Given the description of an element on the screen output the (x, y) to click on. 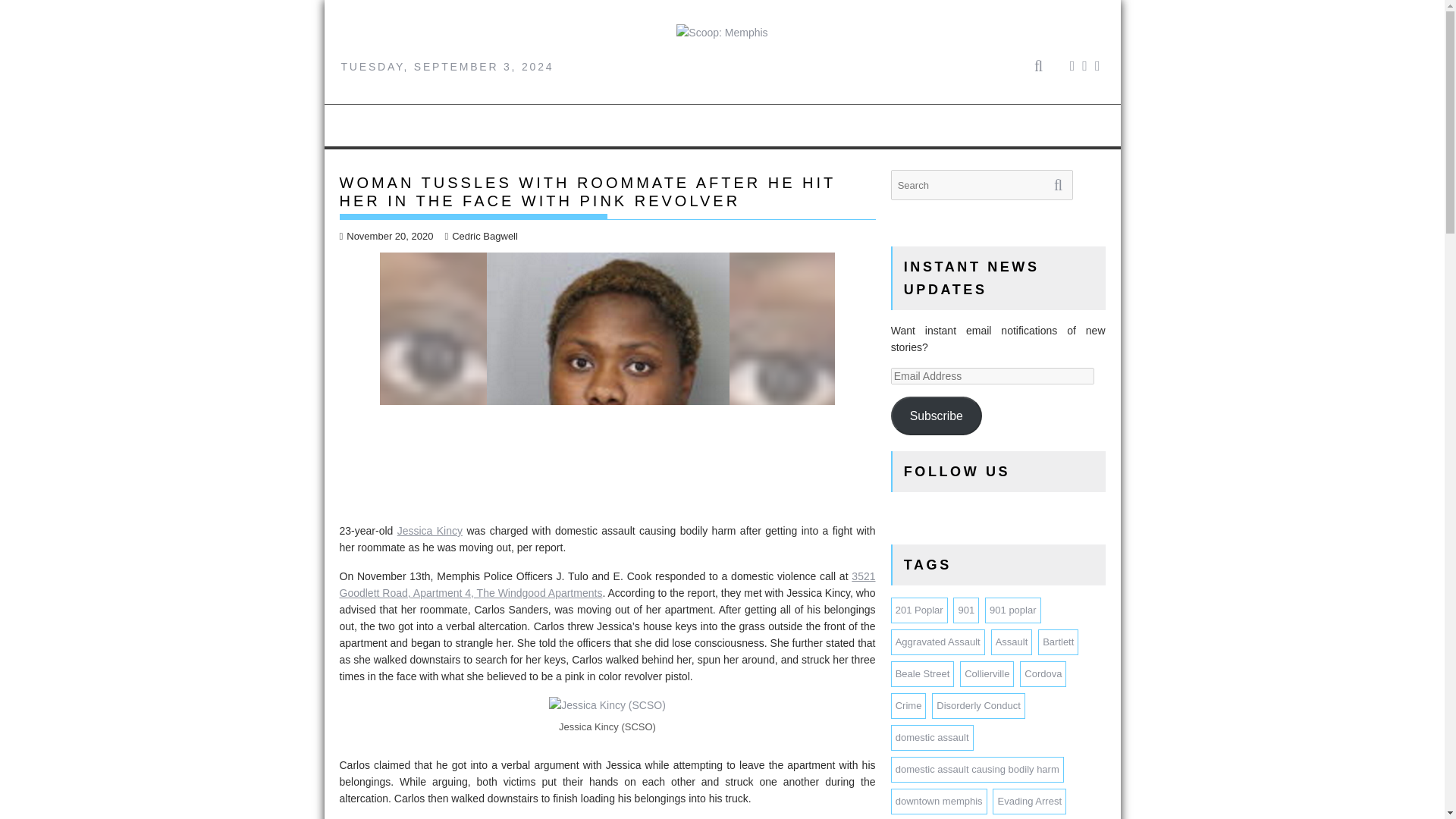
Jessica Kincy (430, 530)
3521 Goodlett Road, Apartment 4, The Windgood Apartments (607, 584)
November 20, 2020 (386, 235)
Cedric Bagwell (480, 235)
